Given the description of an element on the screen output the (x, y) to click on. 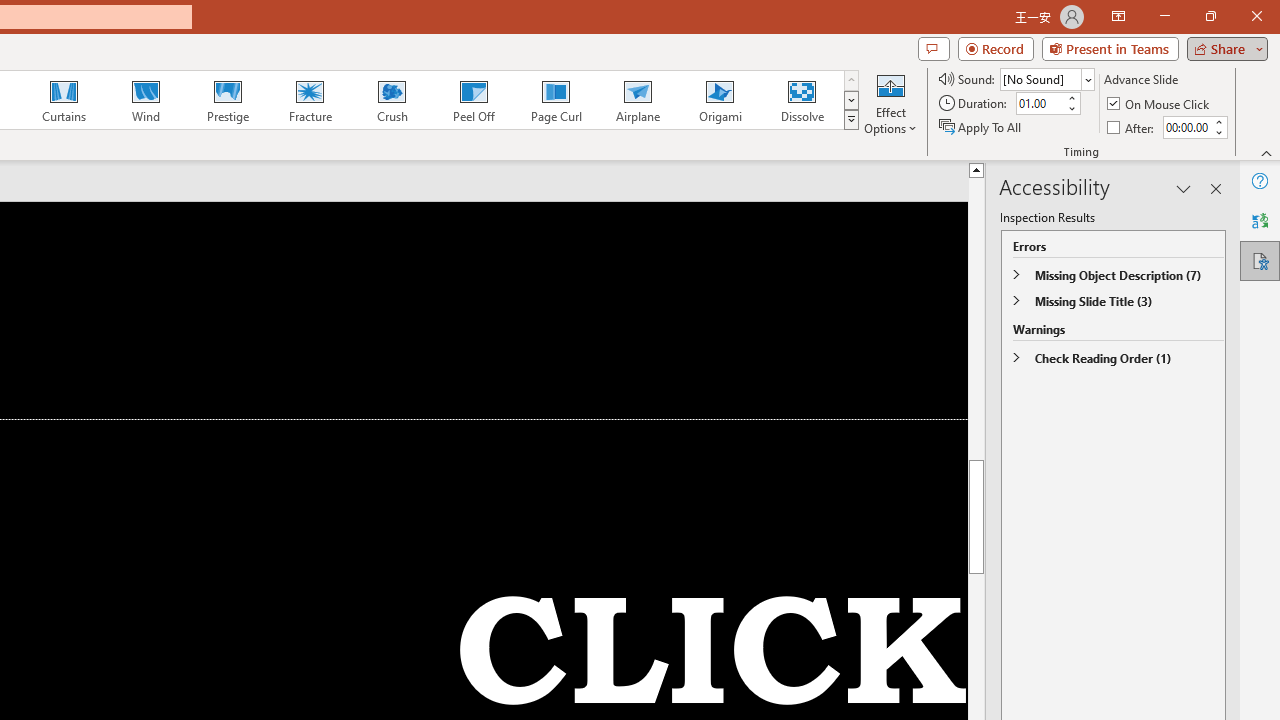
Crush (391, 100)
After (1131, 126)
Fracture (309, 100)
Prestige (227, 100)
Curtains (63, 100)
Sound (1046, 78)
